Given the description of an element on the screen output the (x, y) to click on. 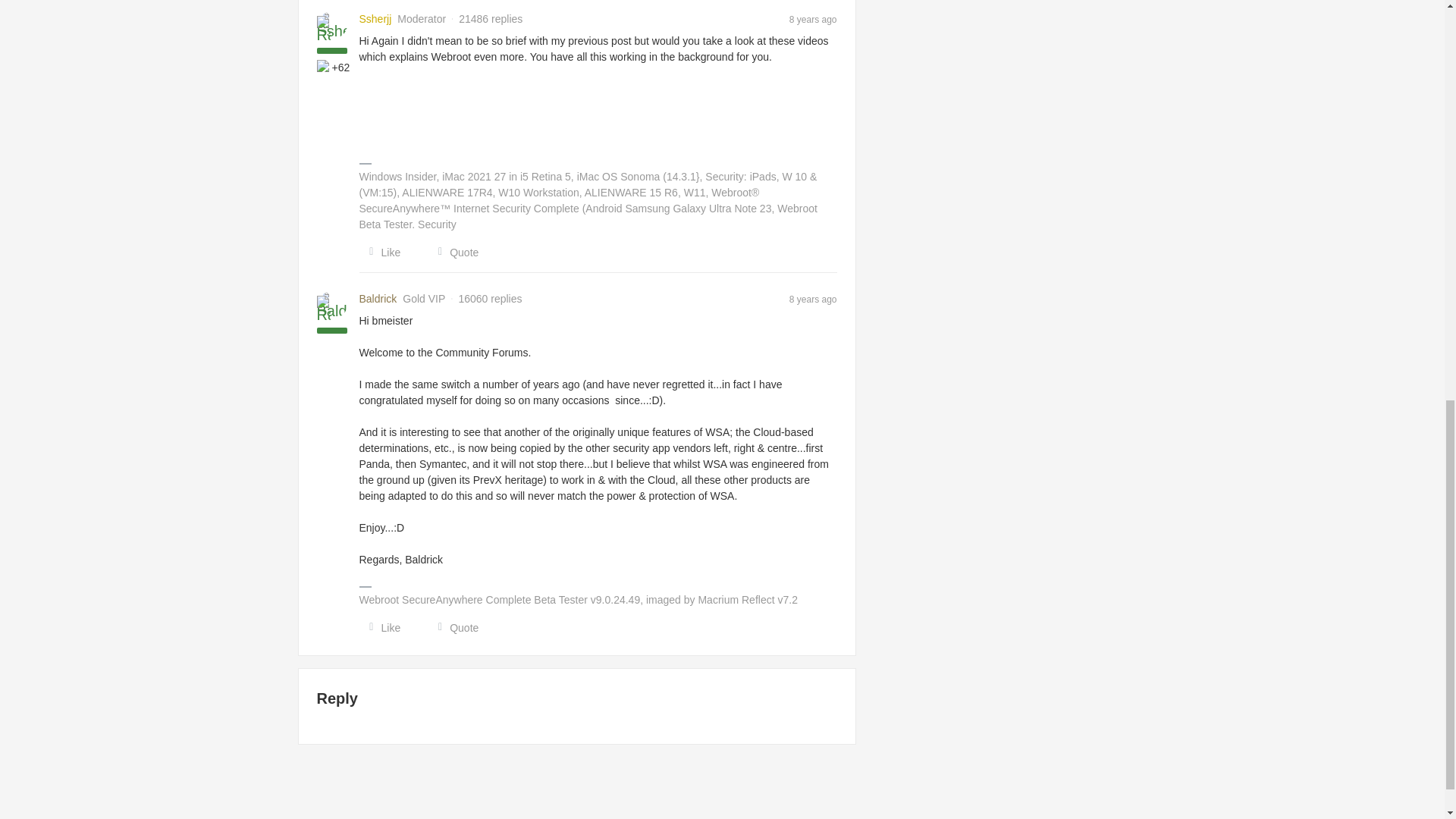
Quote (453, 627)
Ssherjj (375, 19)
Visit Gainsight.com (722, 792)
Cyber Sherpa (324, 67)
Like (380, 252)
8 years ago (813, 19)
Baldrick (378, 299)
Like (380, 627)
Baldrick (378, 299)
Ssherjj (375, 19)
